Given the description of an element on the screen output the (x, y) to click on. 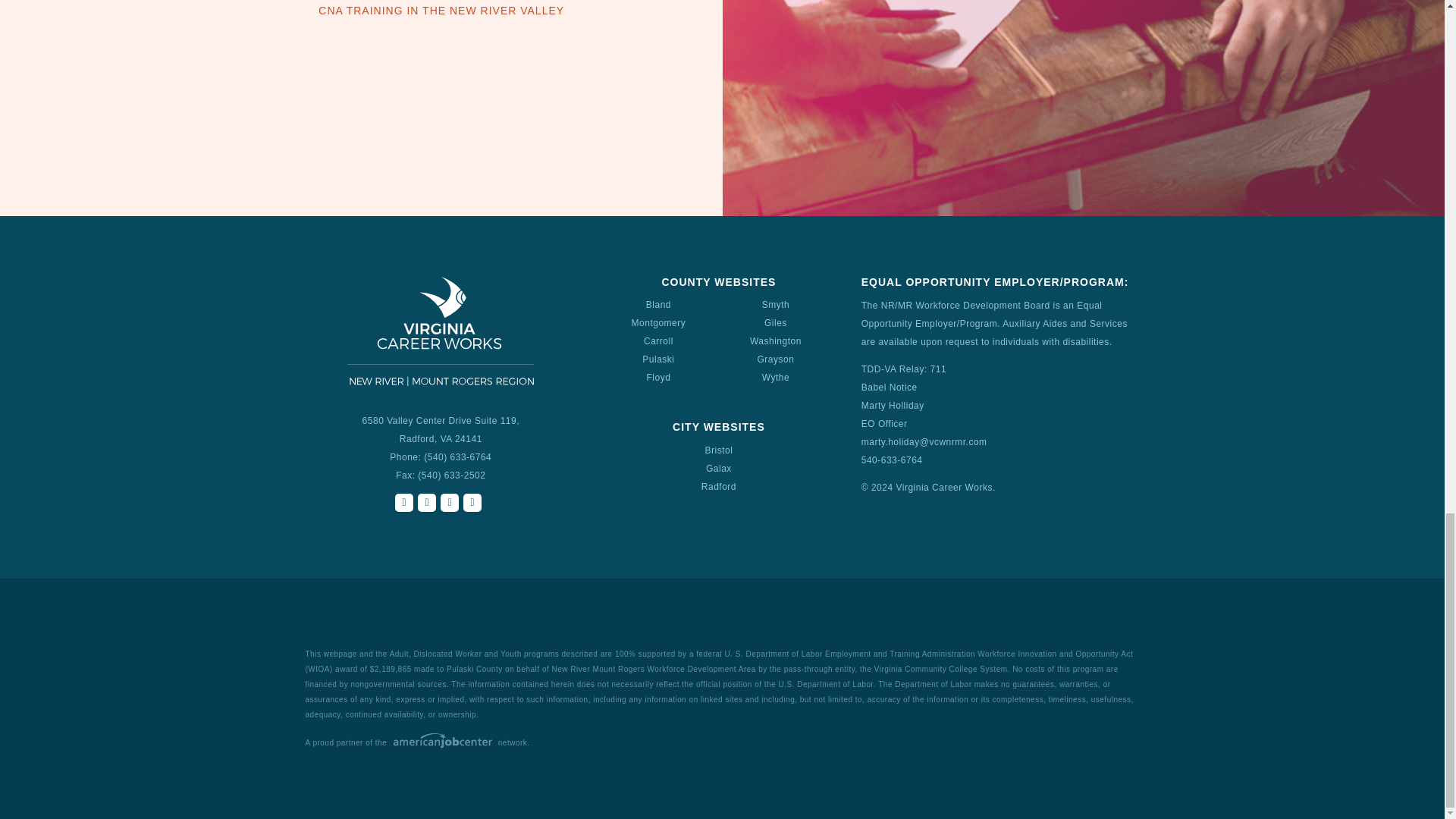
Podcast (472, 502)
Facebook (403, 502)
CNA TRAINING IN THE NEW RIVER VALLEY (441, 10)
Montgomery (658, 322)
Twitter (426, 502)
Bland (658, 304)
LinkedIn (449, 502)
Pulaski (658, 358)
Carroll (657, 340)
